Given the description of an element on the screen output the (x, y) to click on. 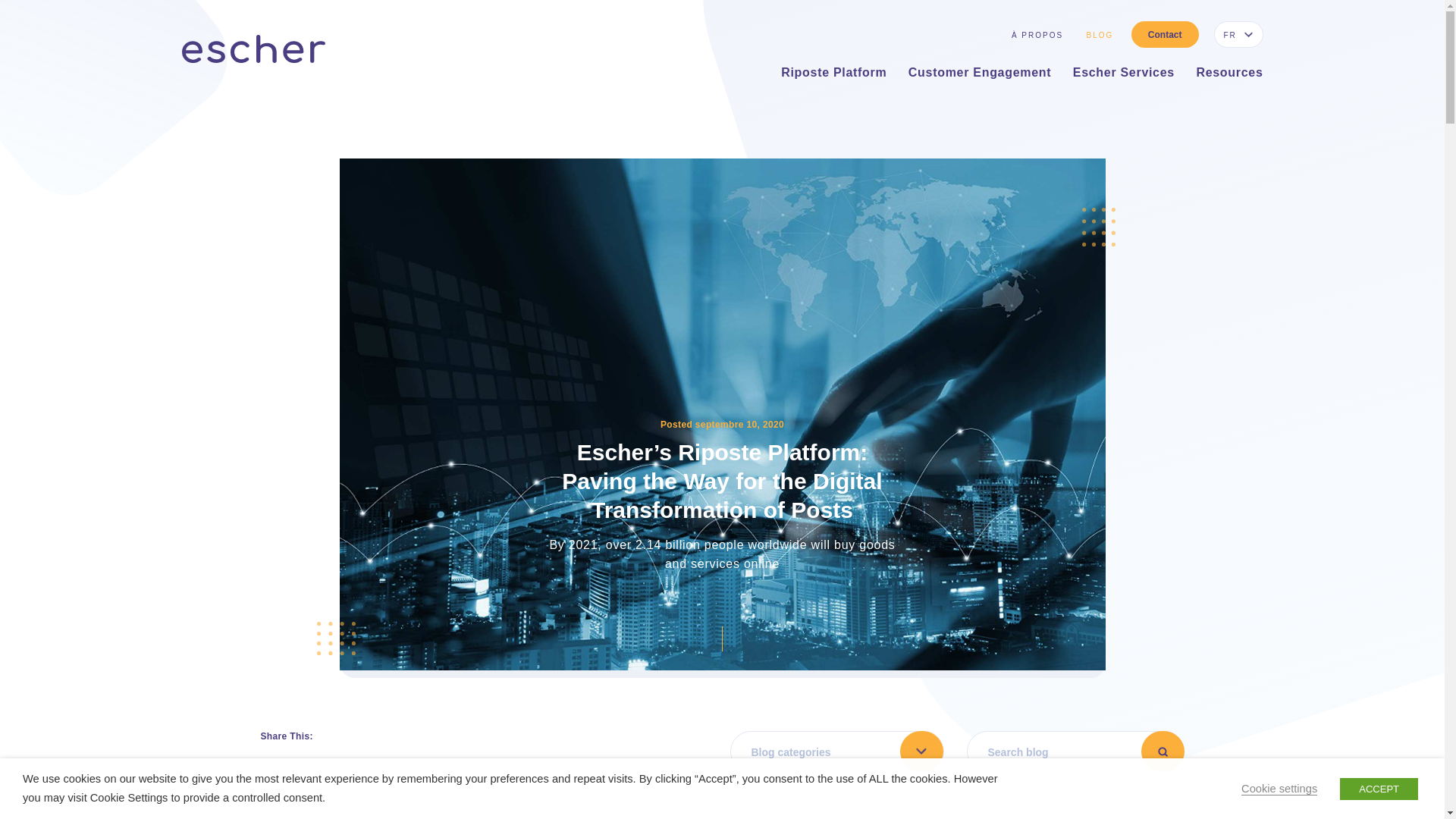
Escher Services (1123, 75)
Customer Engagement (979, 75)
Contact (1164, 34)
search (1161, 751)
Resources (1228, 75)
Blog categories (836, 751)
BLOG (1099, 35)
Riposte Platform (833, 75)
